Given the description of an element on the screen output the (x, y) to click on. 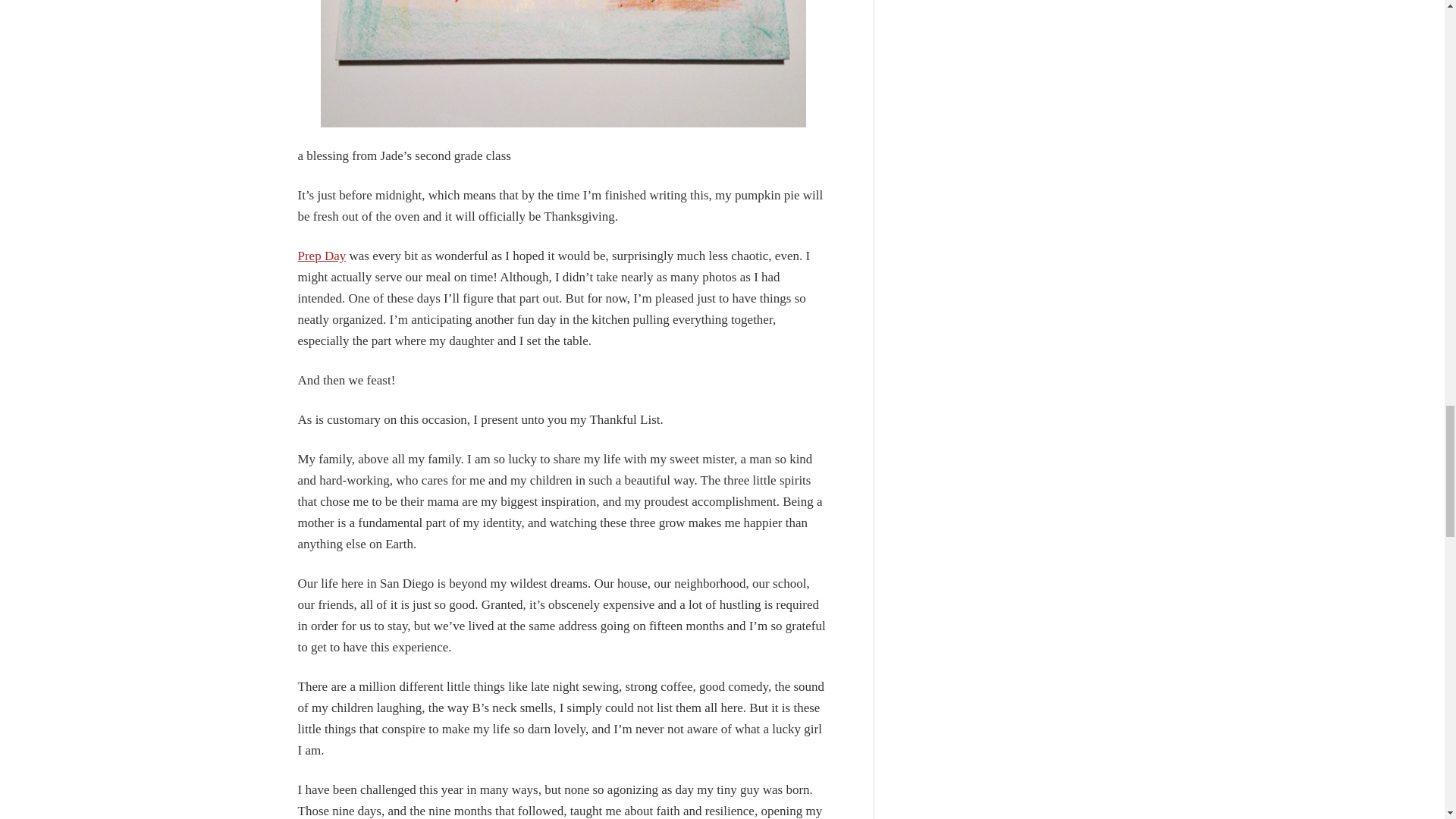
Prep Day (321, 255)
